Given the description of an element on the screen output the (x, y) to click on. 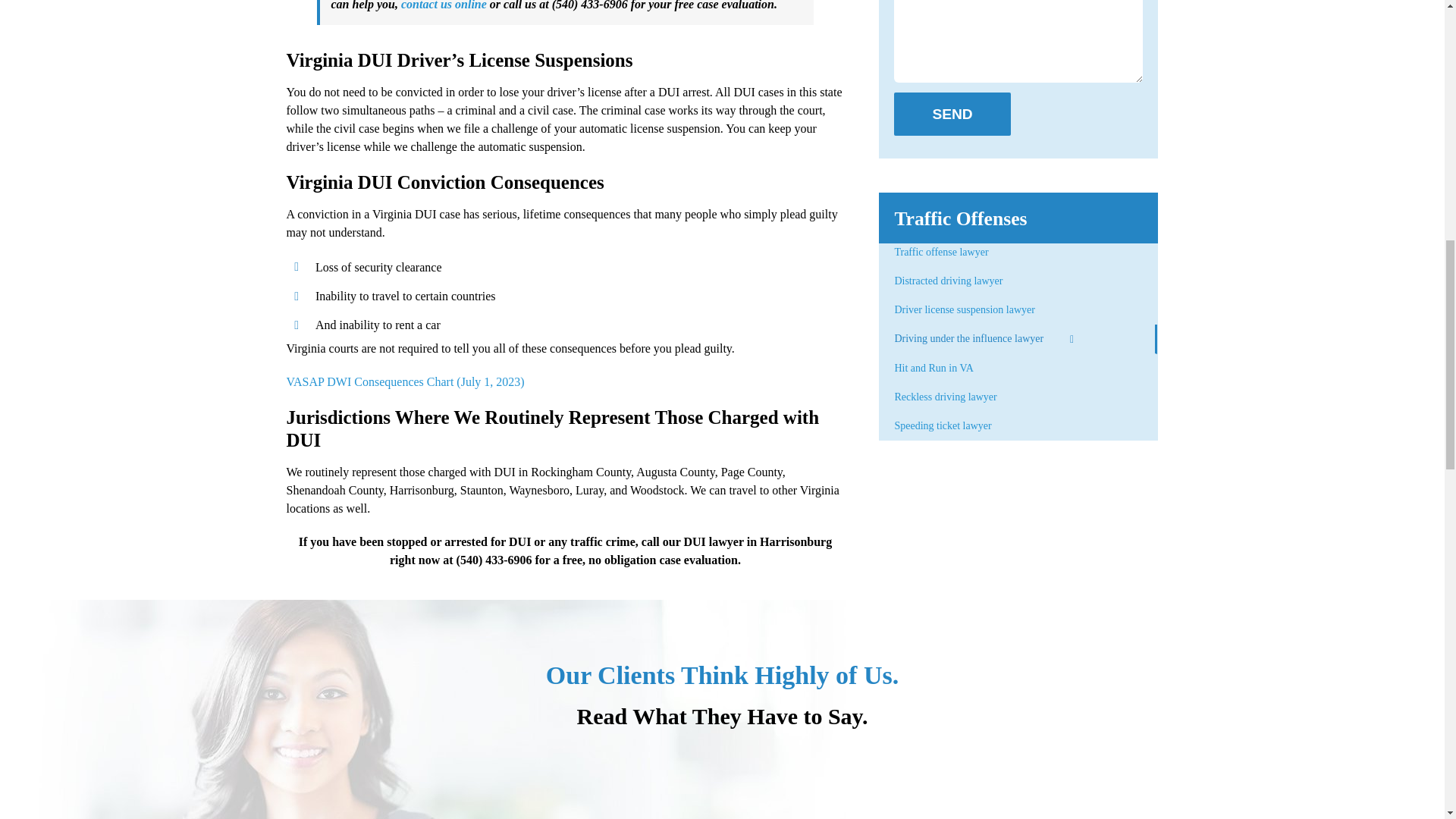
Traffic offense lawyer (1018, 255)
Send (951, 113)
contact us online (443, 5)
Distracted driving lawyer (1018, 280)
Driving under the influence lawyer (1018, 338)
Driver license suspension lawyer (1018, 309)
Hit and Run in VA (1018, 368)
Send (951, 113)
